Given the description of an element on the screen output the (x, y) to click on. 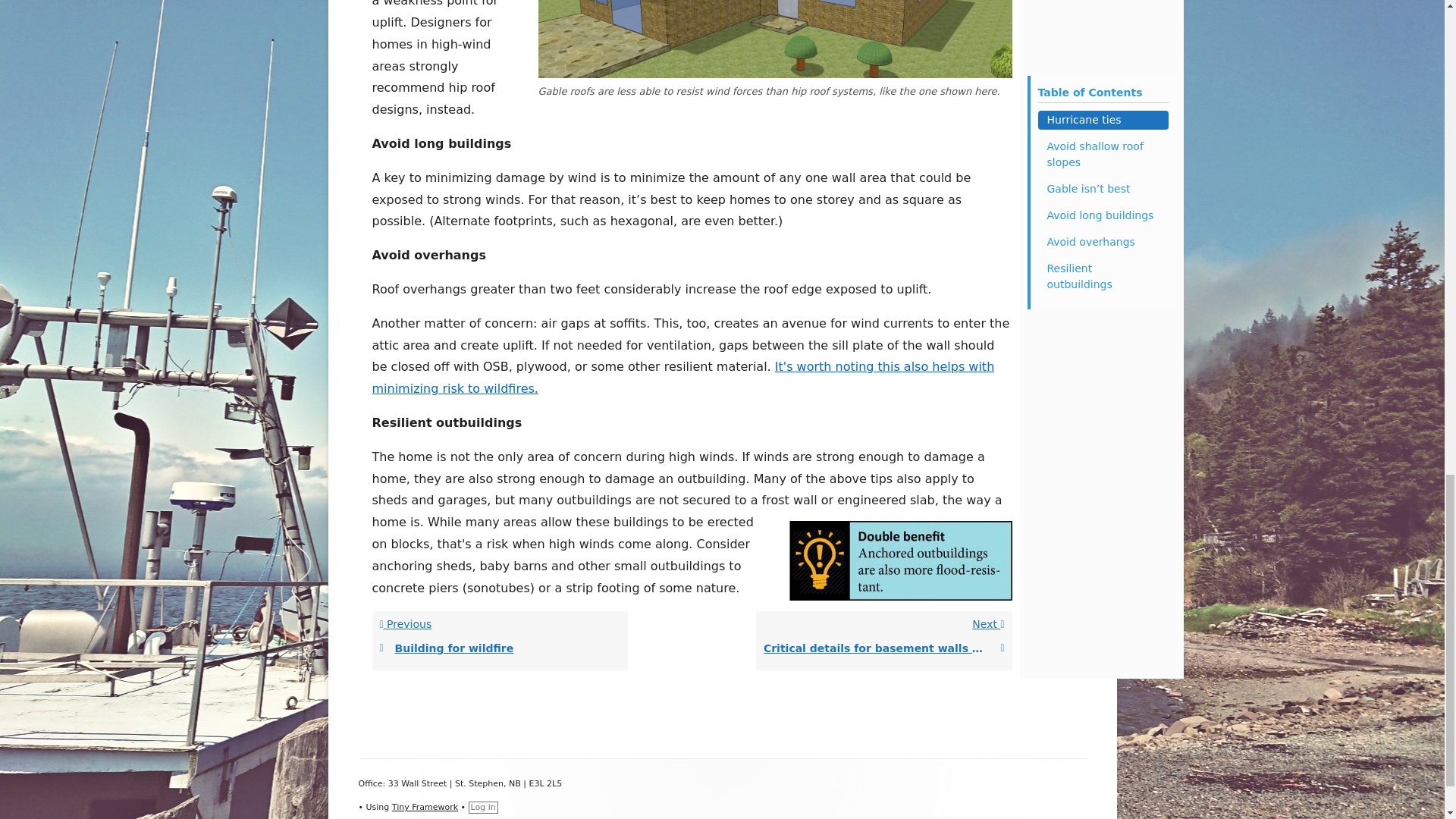
Tiny Framework (424, 807)
Log in (499, 640)
